Given the description of an element on the screen output the (x, y) to click on. 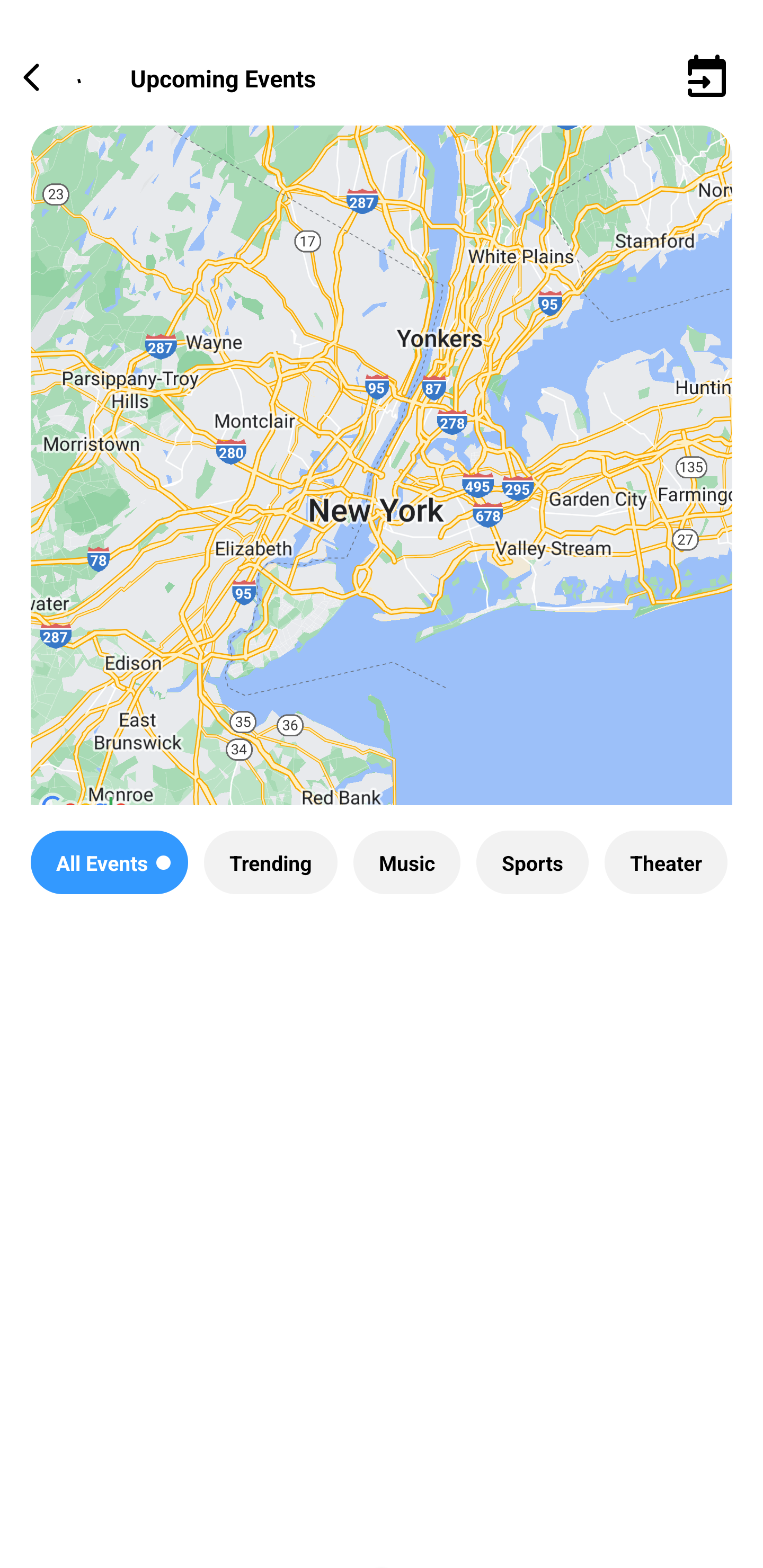
Google Map (381, 480)
All Events (109, 862)
Trending (270, 862)
Music (406, 862)
Sports (532, 862)
Theater (665, 862)
